Given the description of an element on the screen output the (x, y) to click on. 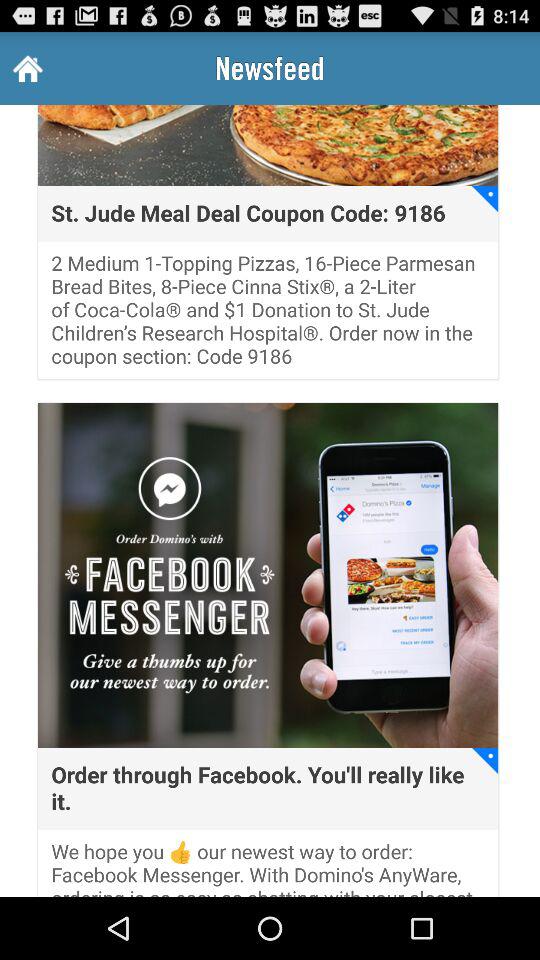
choose the item above the 2 medium 1 icon (248, 213)
